Given the description of an element on the screen output the (x, y) to click on. 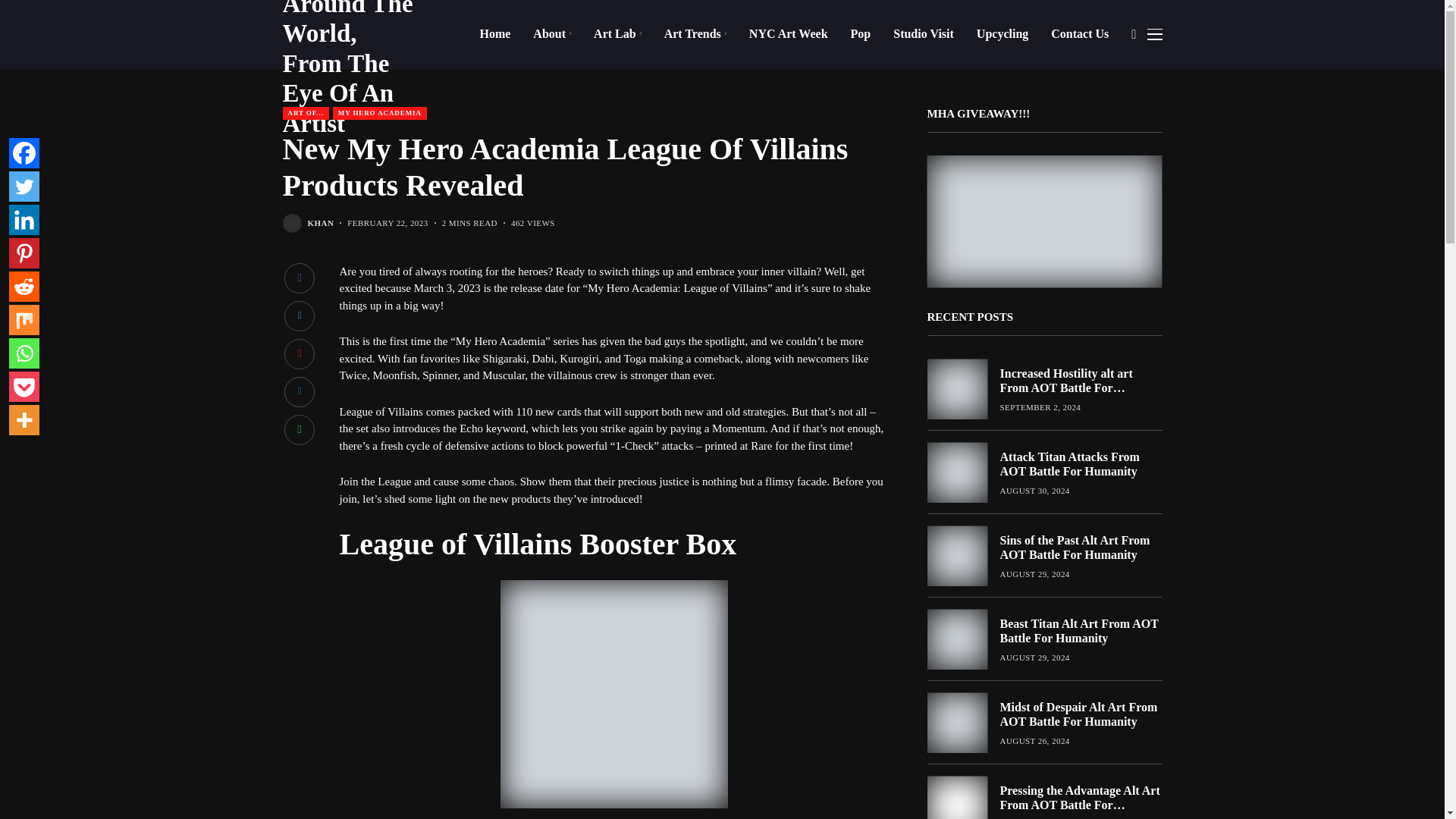
Pinterest (23, 253)
Pocket (23, 386)
NYC Art Week (788, 33)
Facebook (23, 153)
Posts by Khan (320, 223)
Art Trends (694, 33)
Whatsapp (23, 353)
Linkedin (23, 219)
Reddit (23, 286)
Twitter (23, 186)
